Given the description of an element on the screen output the (x, y) to click on. 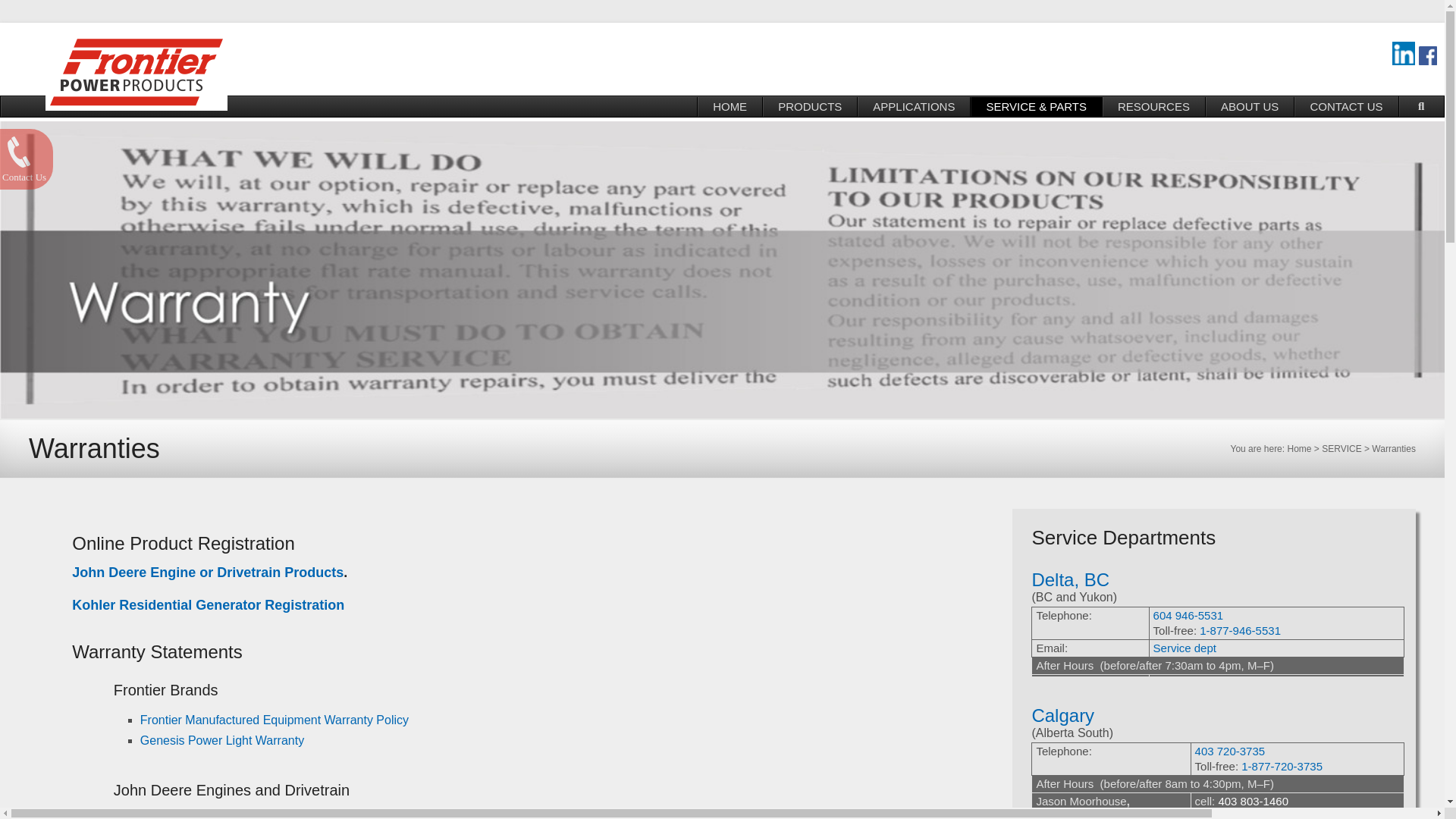
Go to Home. (1299, 448)
Frontier Power Products (390, 54)
Go to SERVICE. (1341, 448)
Frontier Power Products (390, 54)
HOME (729, 107)
